Given the description of an element on the screen output the (x, y) to click on. 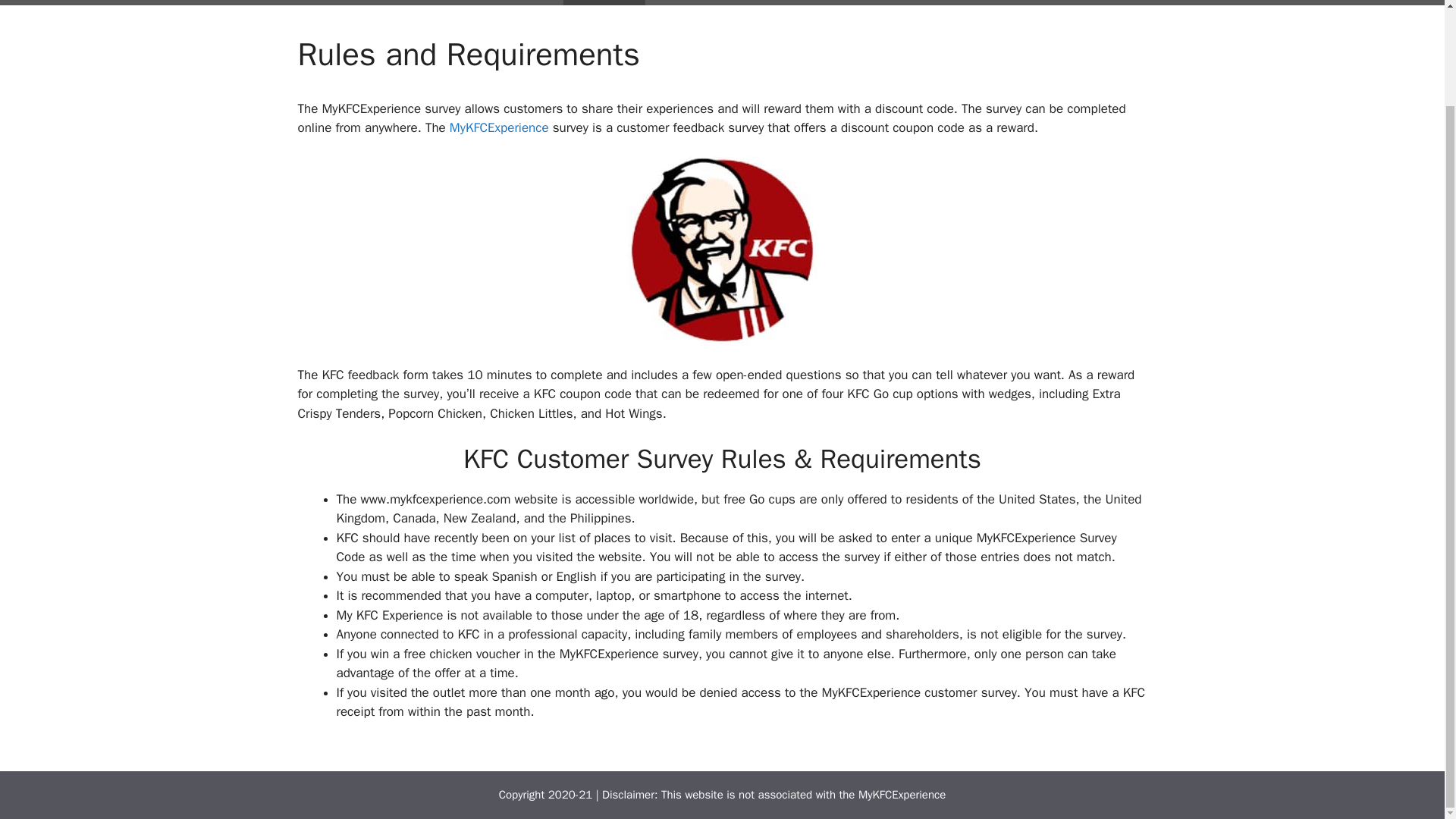
MyKFCExperience (498, 127)
MyKFCExperience (901, 794)
Survey Rewards (699, 2)
Contact Us (887, 2)
About KFC (794, 2)
Survey (604, 2)
Home (533, 2)
